Given the description of an element on the screen output the (x, y) to click on. 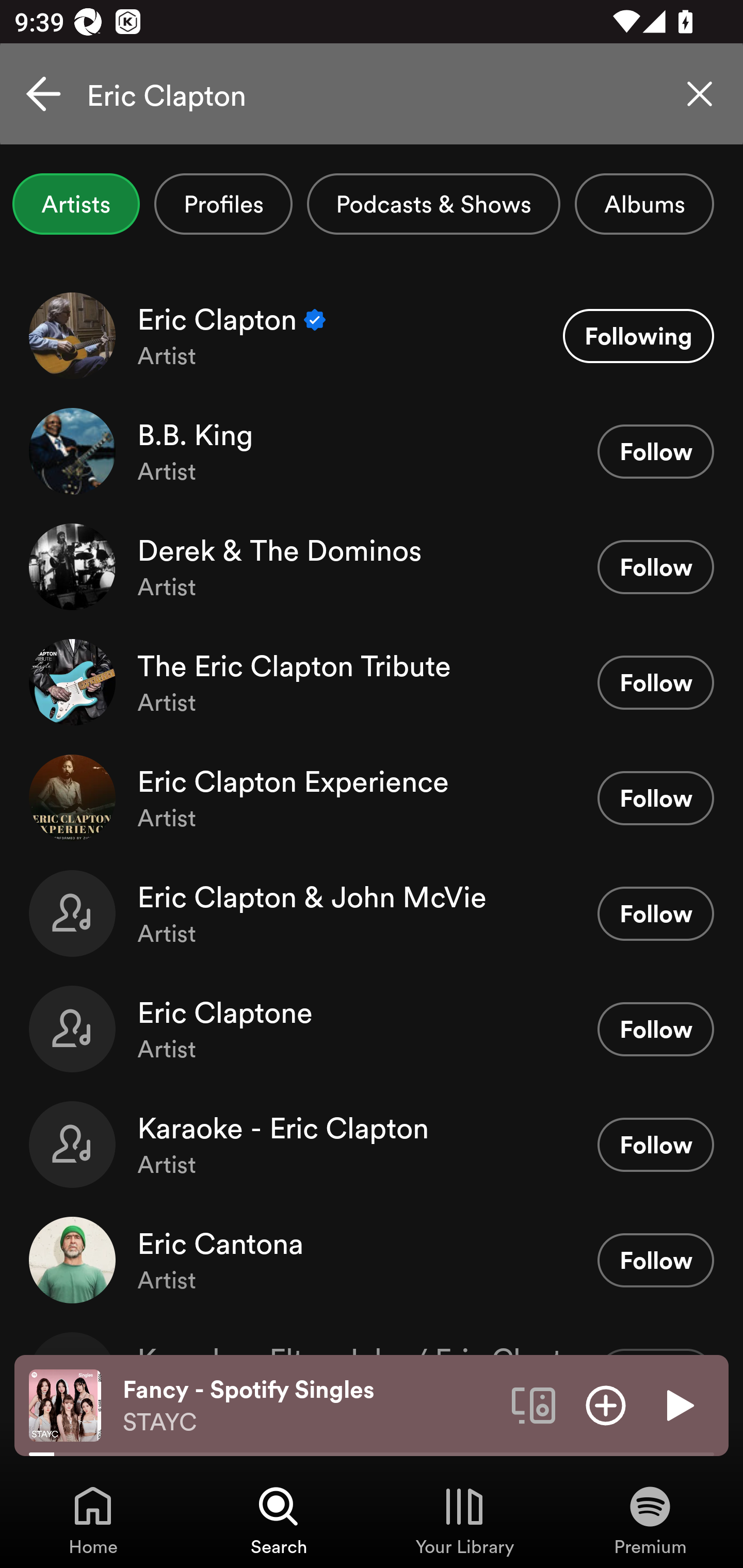
Eric Clapton (371, 93)
Cancel (43, 93)
Clear search query (699, 93)
Artists (75, 203)
Profiles (223, 203)
Podcasts & Shows (433, 203)
Albums (644, 203)
Eric Clapton Verified Artist Following Unfollow (371, 335)
Following Unfollow (638, 335)
B.B. King Artist Follow Follow (371, 451)
Follow (655, 451)
Derek & The Dominos Artist Follow Follow (371, 566)
Follow (655, 566)
The Eric Clapton Tribute Artist Follow Follow (371, 682)
Follow (655, 682)
Eric Clapton Experience Artist Follow Follow (371, 798)
Follow (655, 797)
Eric Clapton & John McVie Artist Follow Follow (371, 913)
Follow (655, 912)
Eric Claptone Artist Follow Follow (371, 1028)
Follow (655, 1028)
Karaoke - Eric Clapton Artist Follow Follow (371, 1144)
Follow (655, 1144)
Eric Cantona Artist Follow Follow (371, 1259)
Follow (655, 1260)
Fancy - Spotify Singles STAYC (309, 1405)
The cover art of the currently playing track (64, 1404)
Connect to a device. Opens the devices menu (533, 1404)
Add item (605, 1404)
Play (677, 1404)
Home, Tab 1 of 4 Home Home (92, 1519)
Search, Tab 2 of 4 Search Search (278, 1519)
Your Library, Tab 3 of 4 Your Library Your Library (464, 1519)
Premium, Tab 4 of 4 Premium Premium (650, 1519)
